Given the description of an element on the screen output the (x, y) to click on. 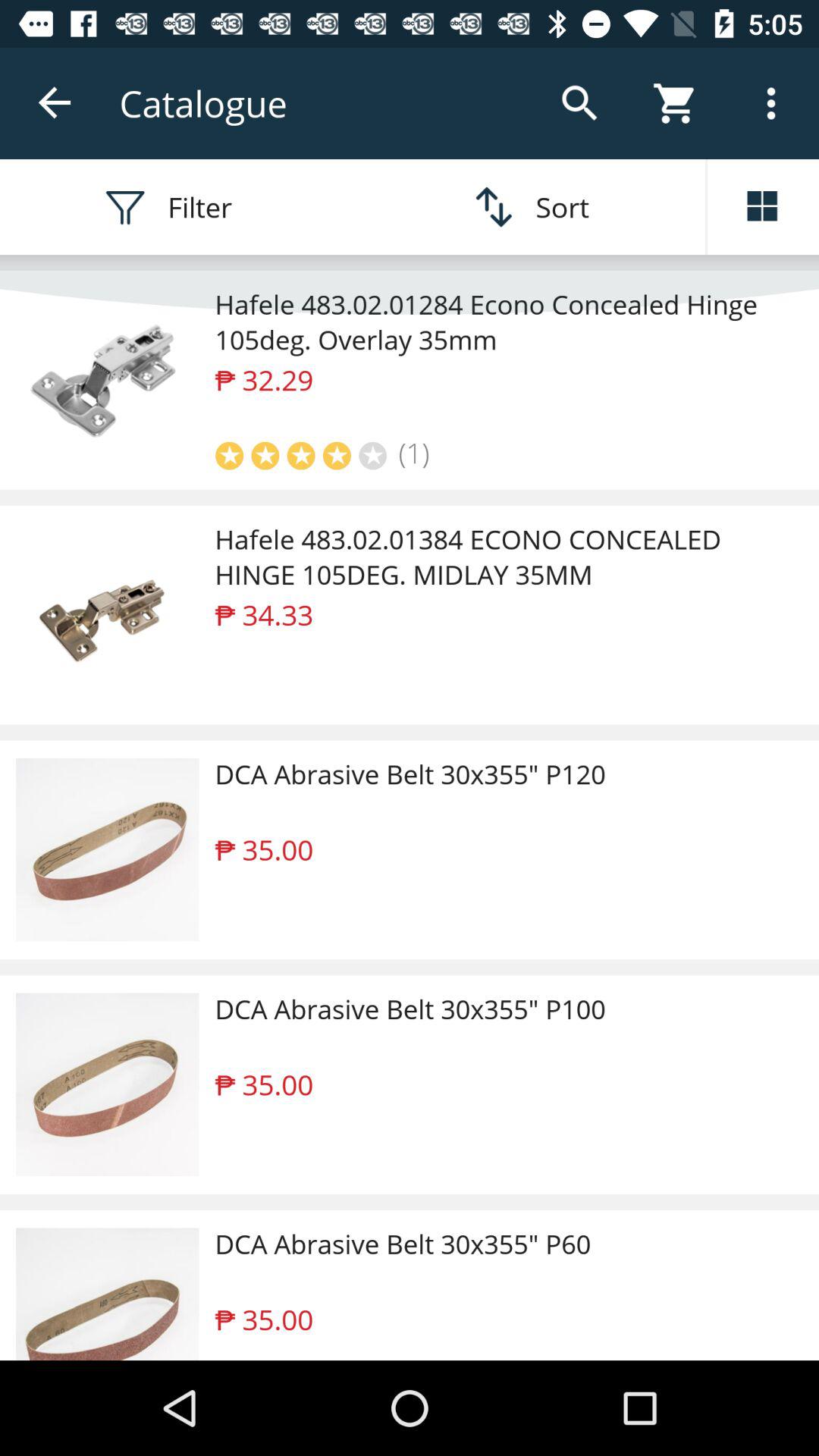
click the app next to catalogue icon (55, 103)
